Given the description of an element on the screen output the (x, y) to click on. 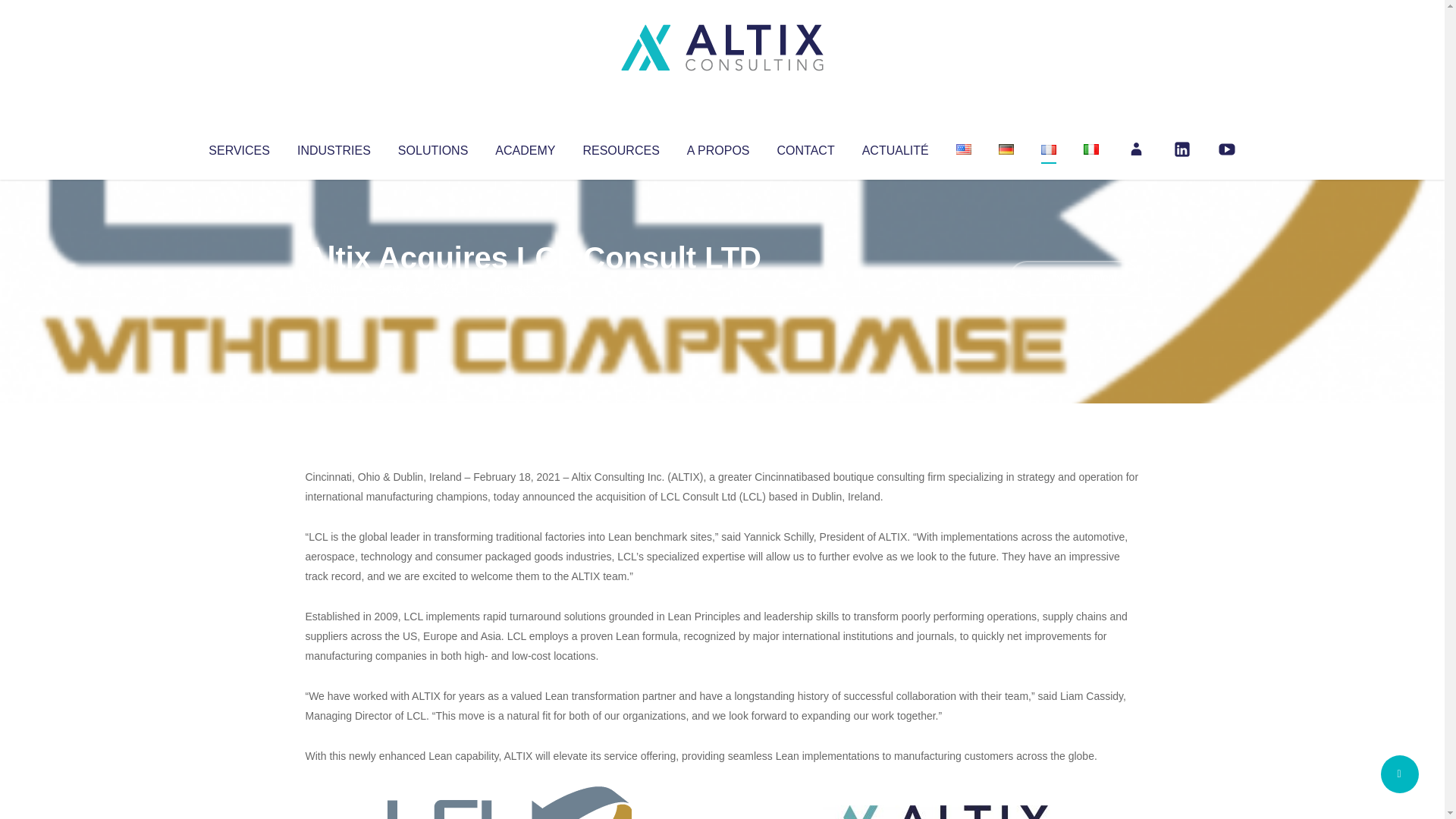
Uncategorized (530, 287)
SOLUTIONS (432, 146)
RESOURCES (620, 146)
No Comments (1073, 278)
Altix (333, 287)
INDUSTRIES (334, 146)
A PROPOS (718, 146)
Articles par Altix (333, 287)
ACADEMY (524, 146)
SERVICES (238, 146)
